Given the description of an element on the screen output the (x, y) to click on. 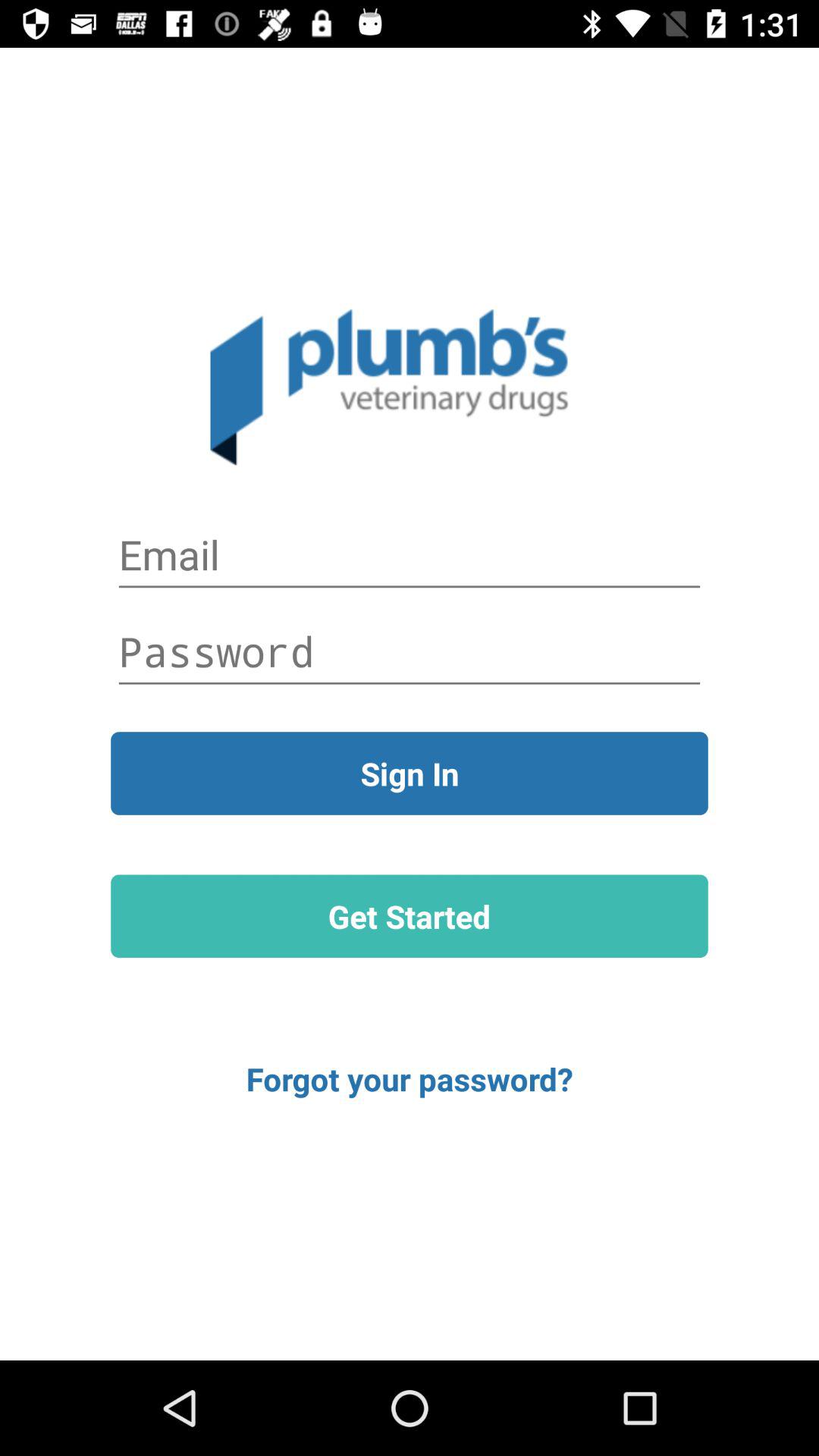
scroll until the sign in item (409, 773)
